Given the description of an element on the screen output the (x, y) to click on. 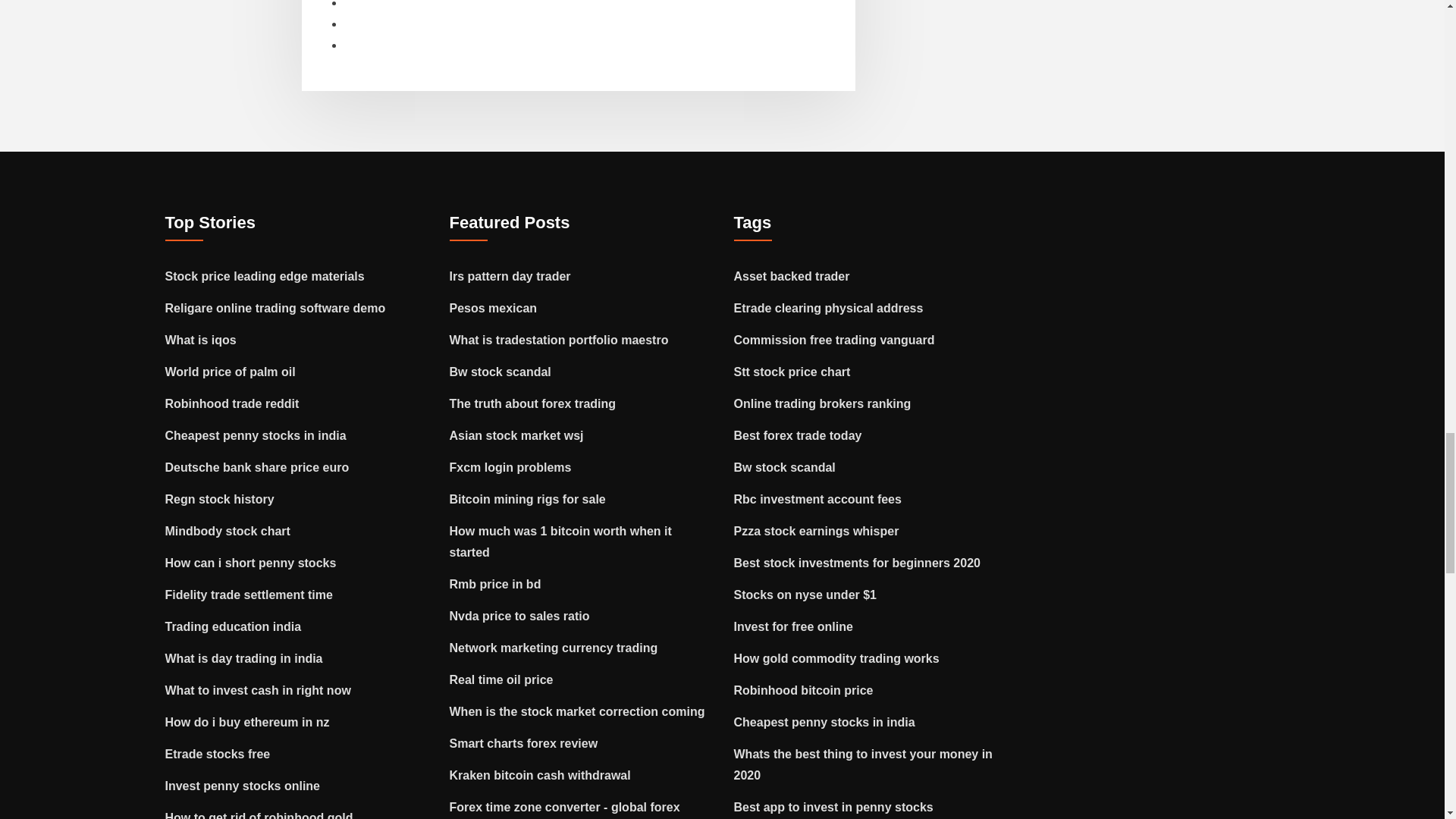
What is day trading in india (244, 658)
World price of palm oil (230, 371)
Trading education india (233, 626)
How do i buy ethereum in nz (247, 721)
What to invest cash in right now (257, 689)
Invest penny stocks online (242, 785)
Stock price leading edge materials (265, 276)
Regn stock history (220, 499)
Religare online trading software demo (275, 308)
Cheapest penny stocks in india (255, 435)
